Given the description of an element on the screen output the (x, y) to click on. 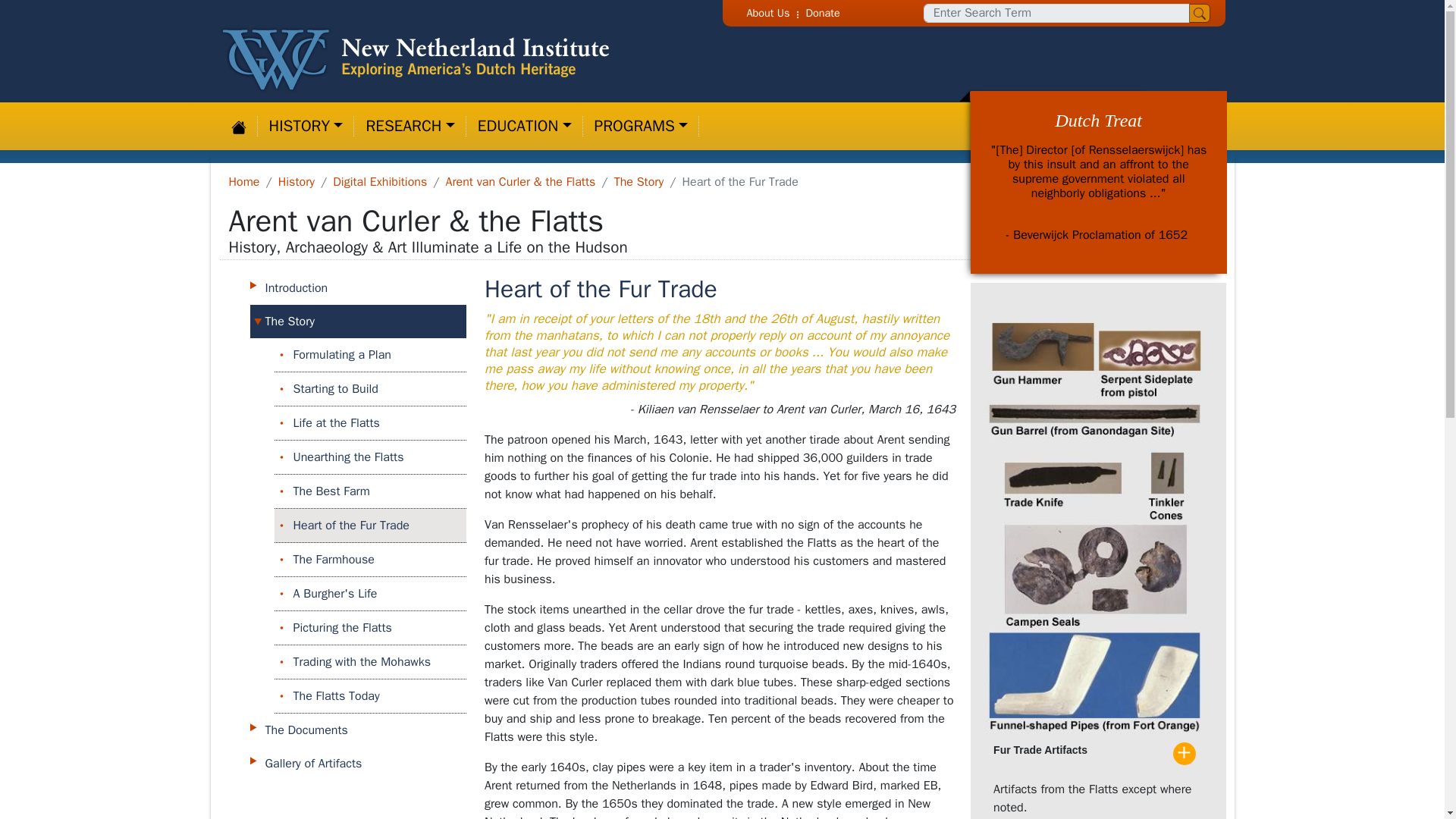
The Best Farm (378, 491)
History (296, 181)
About Us (768, 12)
RESEARCH (409, 126)
Beverwijck Proclamation (1098, 234)
Formulating a Plan (378, 354)
The Story (638, 181)
Heart of the Fur Trade (378, 525)
Starting to Build (378, 389)
Life at the Flatts (378, 423)
